Given the description of an element on the screen output the (x, y) to click on. 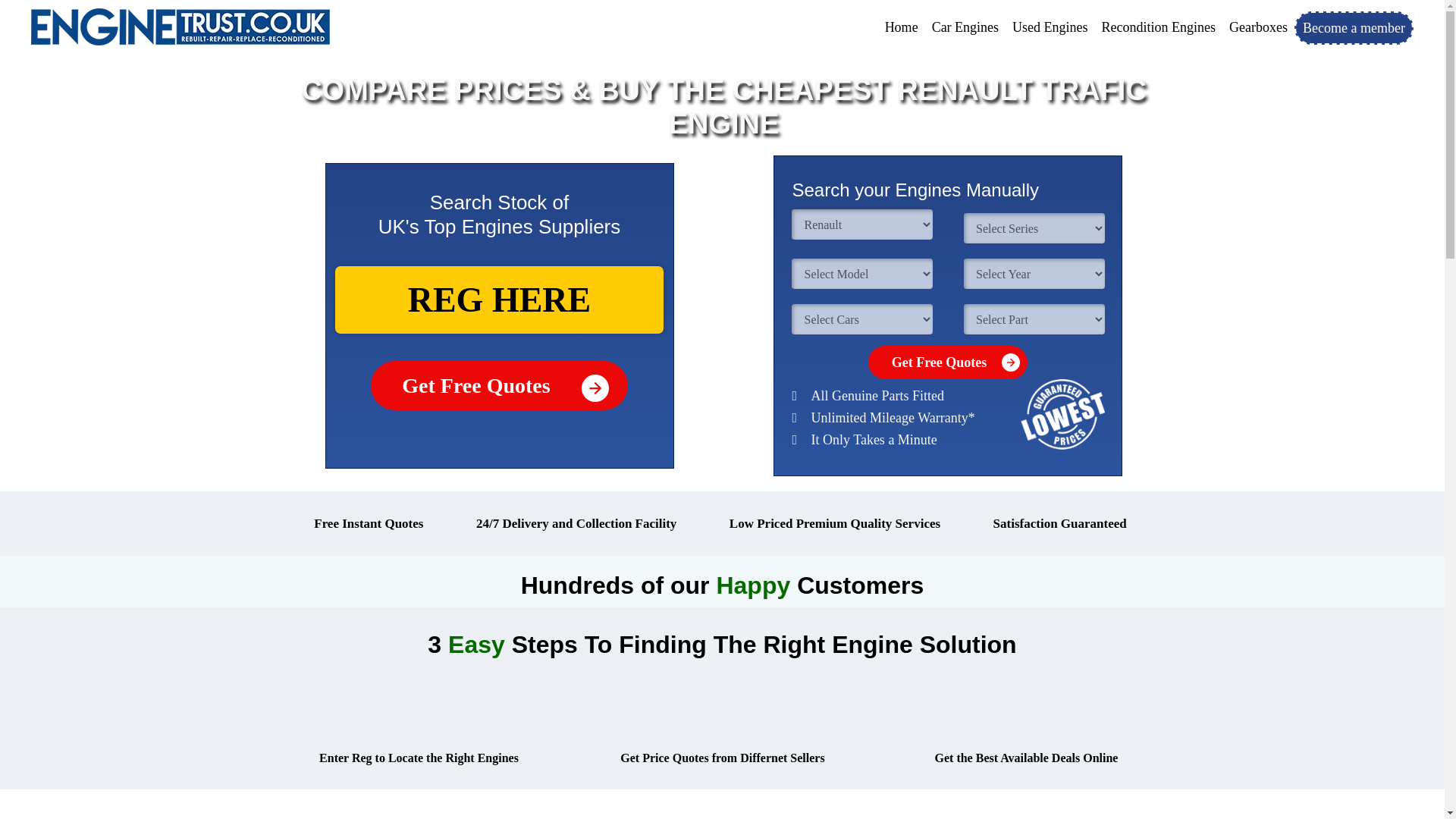
Become a member (1353, 28)
Recondition Engines (1158, 27)
Used Engines (1050, 27)
Home (900, 27)
Car Engines (965, 27)
Gearboxes (1258, 27)
Get Free Quotes (499, 385)
Get Free Quotes (947, 362)
